Given the description of an element on the screen output the (x, y) to click on. 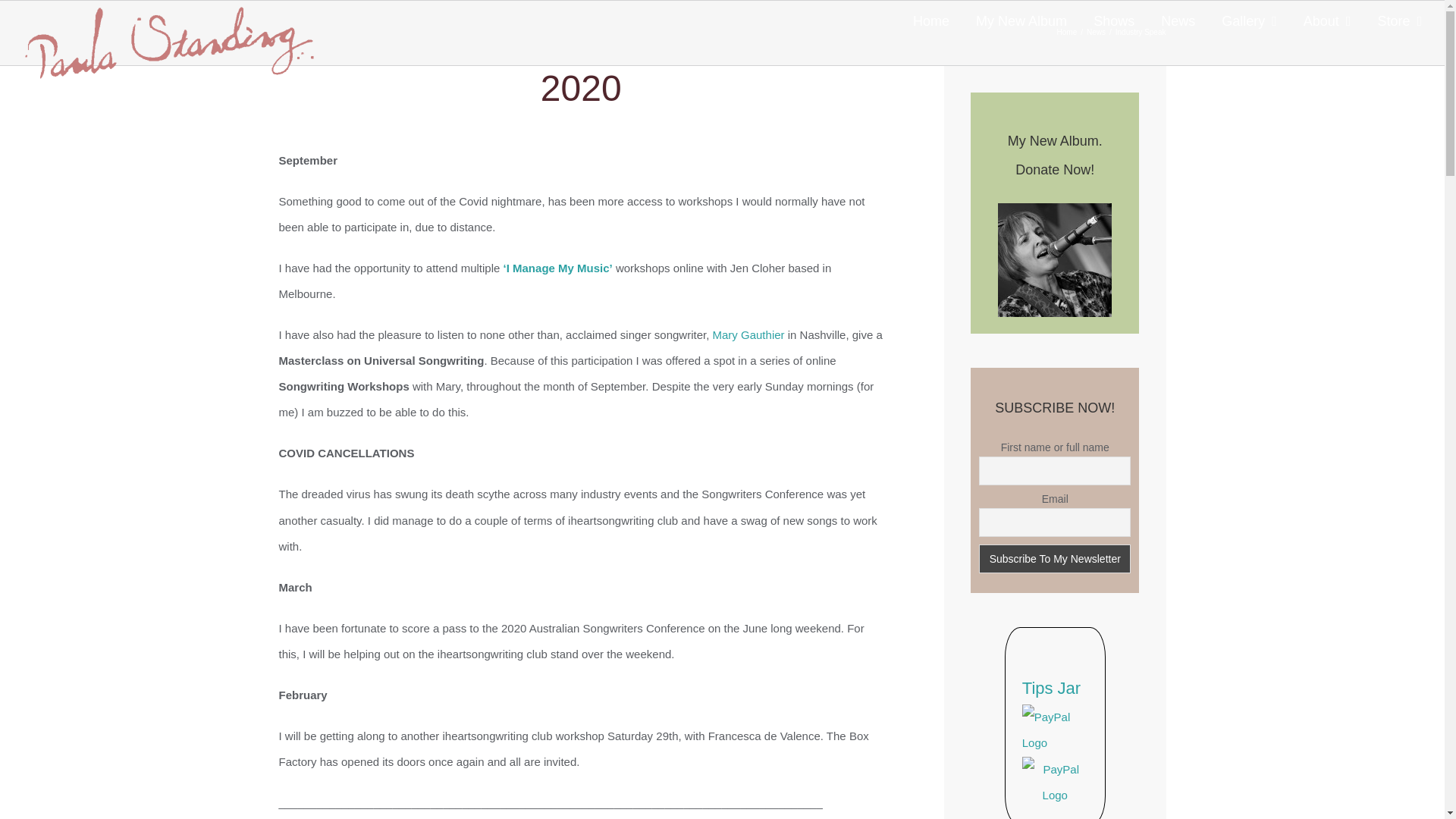
Shows (1113, 20)
My New Album (1021, 20)
About (1327, 20)
Store (1399, 20)
Subscribe To My Newsletter (1054, 558)
Click here to leave me a tip (1054, 716)
Click here to leave me a tip (1054, 768)
Gallery (1248, 20)
